Given the description of an element on the screen output the (x, y) to click on. 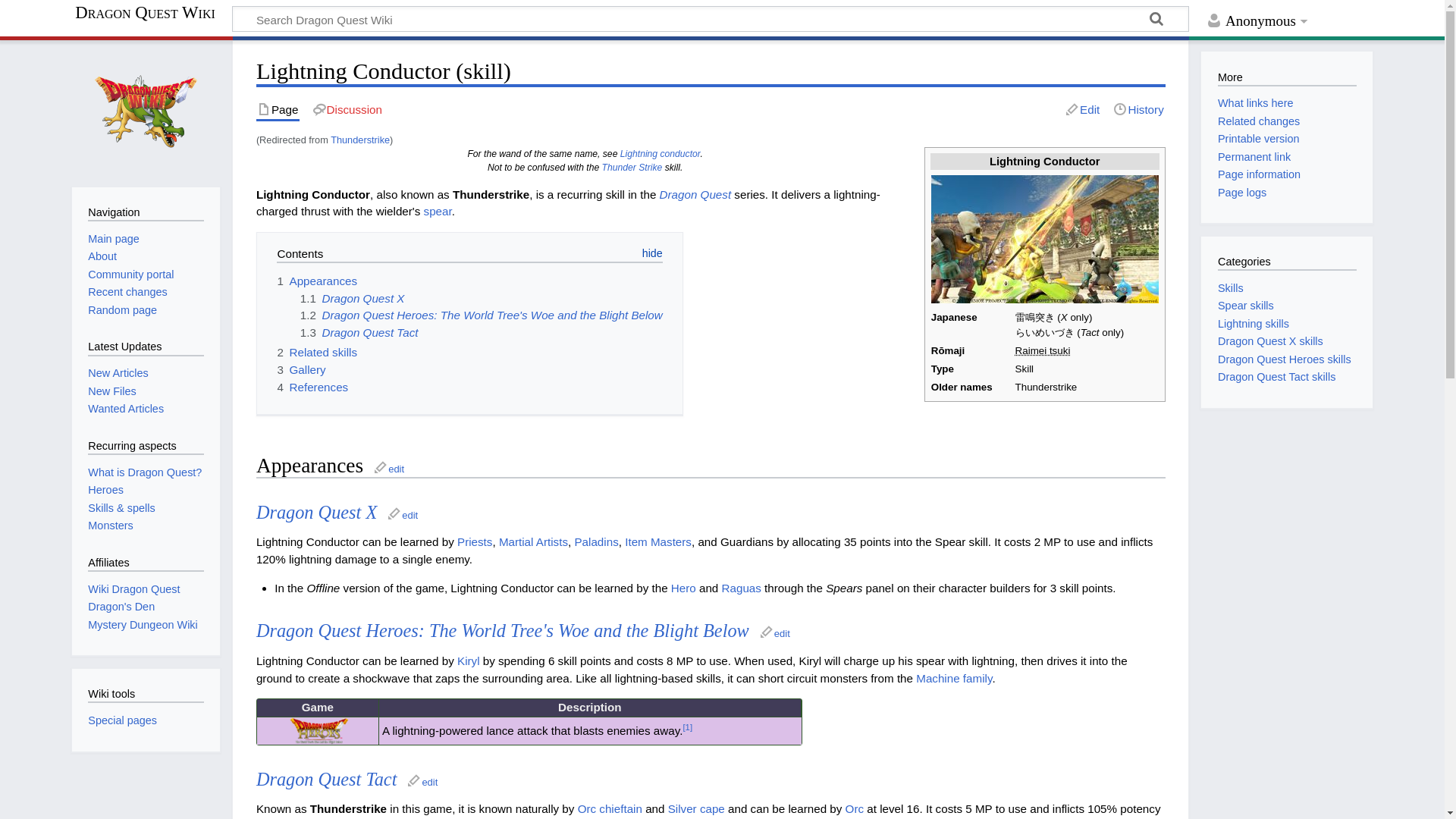
Thunder thrust (1042, 350)
Thunder Strike (632, 167)
3 Gallery (300, 369)
Kiryl (468, 660)
Discussion (347, 109)
edit (402, 513)
Thunderstrike (360, 139)
2 Related skills (316, 351)
Search (1155, 21)
1 Appearances (316, 280)
Raguas (741, 587)
edit (774, 632)
Priests (474, 541)
Dragon Quest X (316, 512)
